Given the description of an element on the screen output the (x, y) to click on. 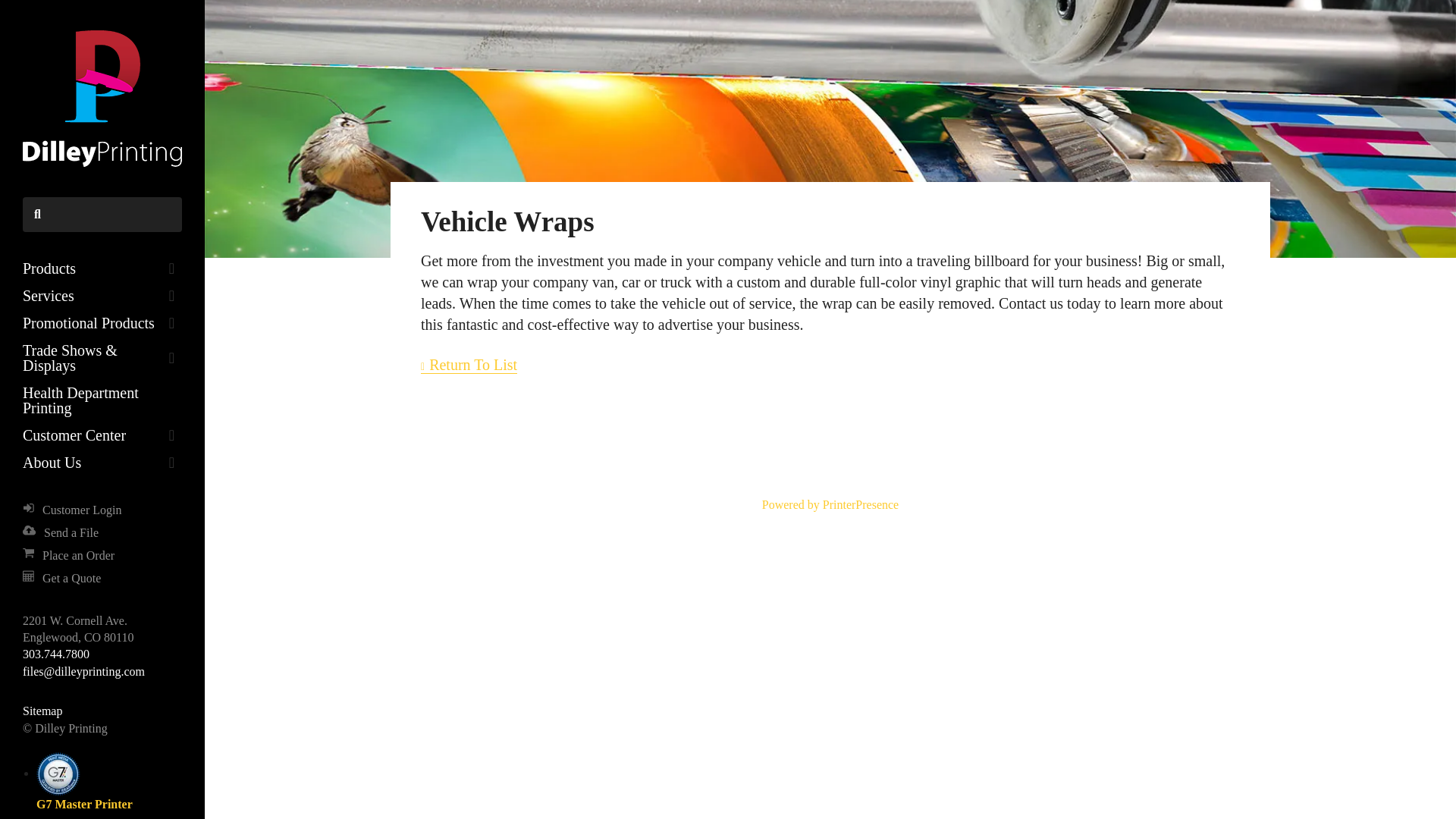
logo (102, 98)
Products (102, 267)
Promotional Products (102, 322)
Services (102, 295)
